Given the description of an element on the screen output the (x, y) to click on. 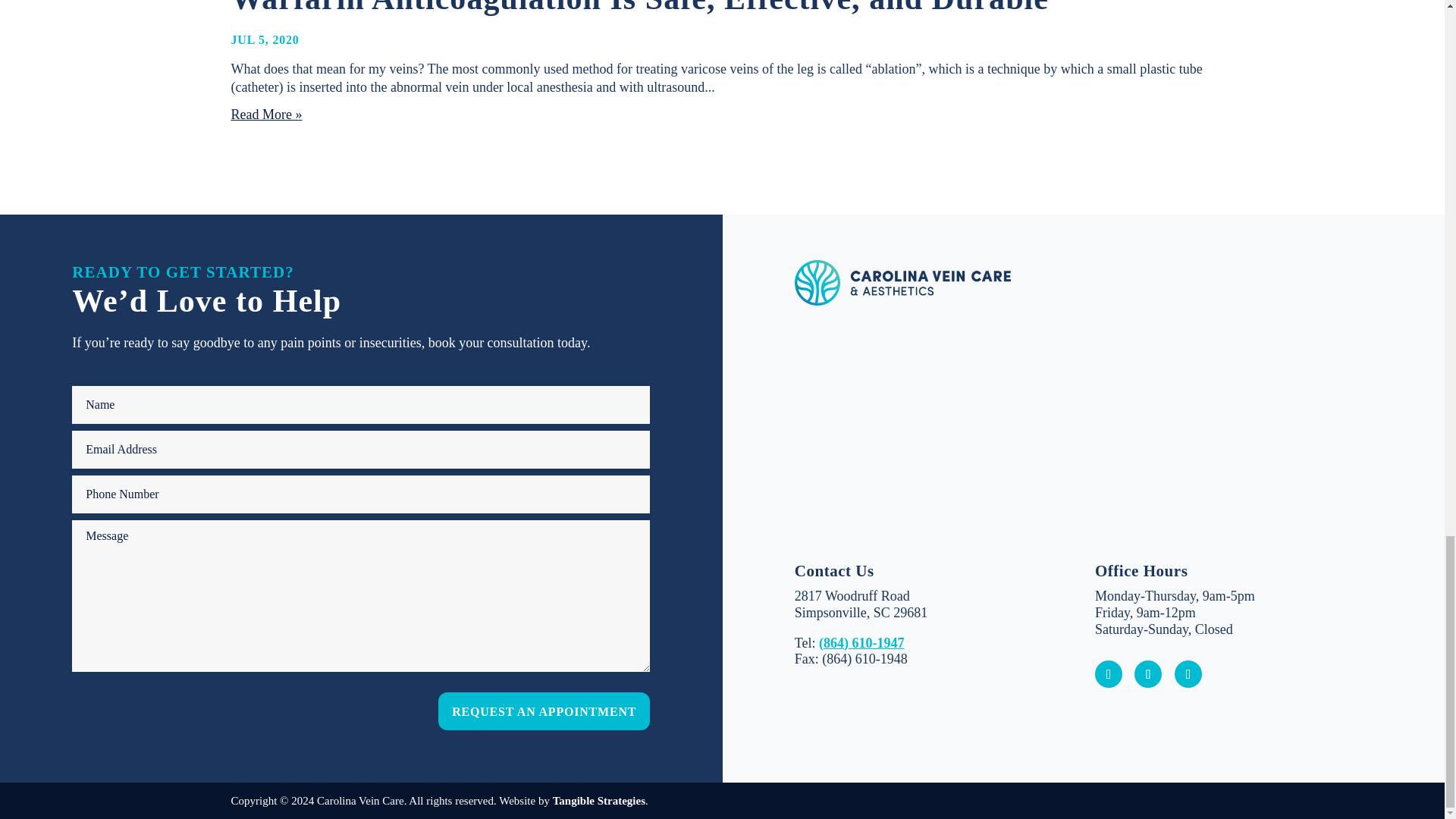
Request an Appointment (543, 711)
carolina-vein-care-aesthetics-greenville-sc (902, 282)
